Given the description of an element on the screen output the (x, y) to click on. 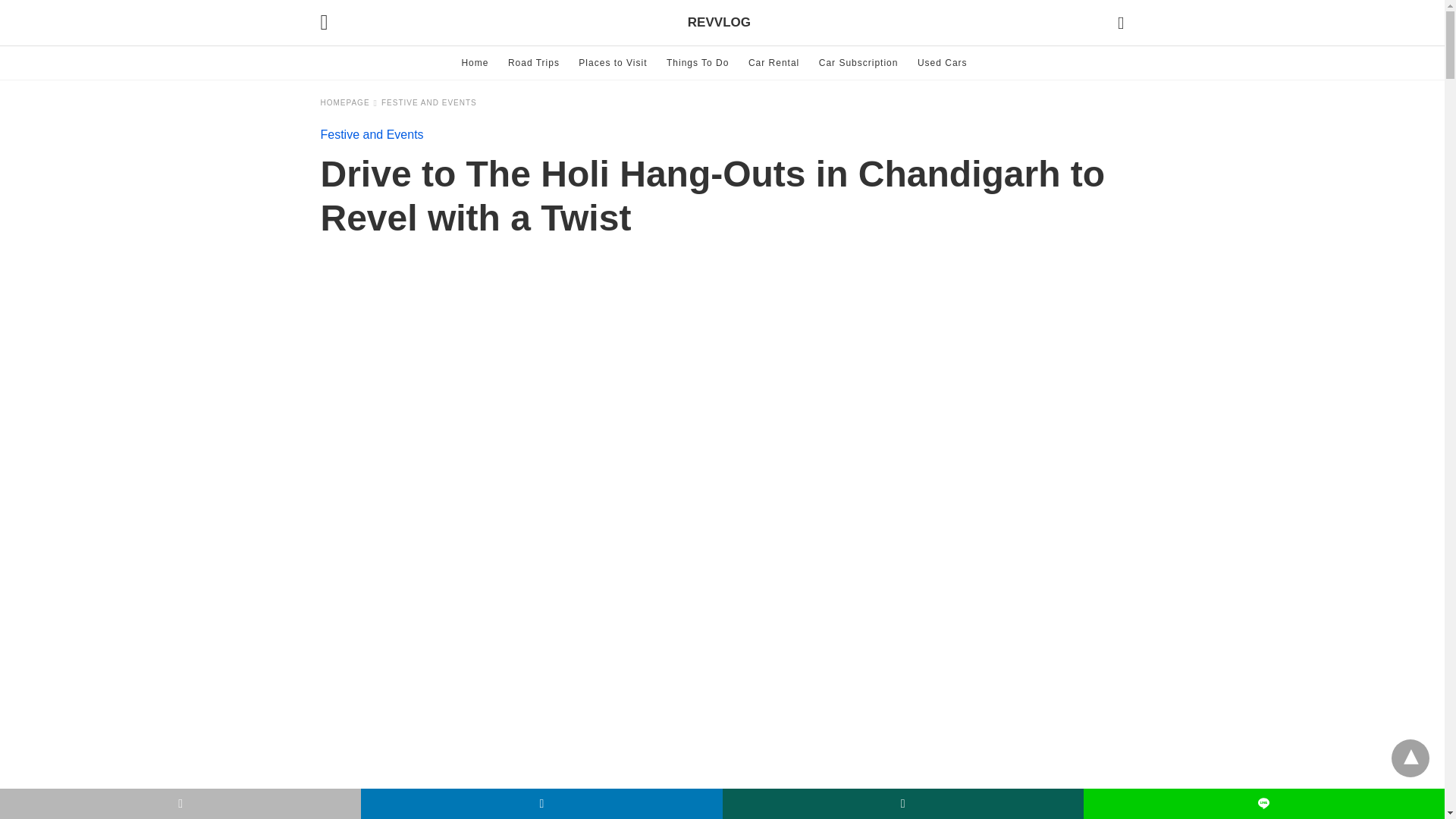
Festive and Events (371, 133)
FESTIVE AND EVENTS (429, 102)
HOMEPAGE (348, 102)
Car Subscription (858, 62)
Car Rental (773, 62)
Things To Do (697, 62)
Used Cars (942, 62)
Festive and Events (429, 102)
Road Trips (533, 62)
Homepage (348, 102)
